Given the description of an element on the screen output the (x, y) to click on. 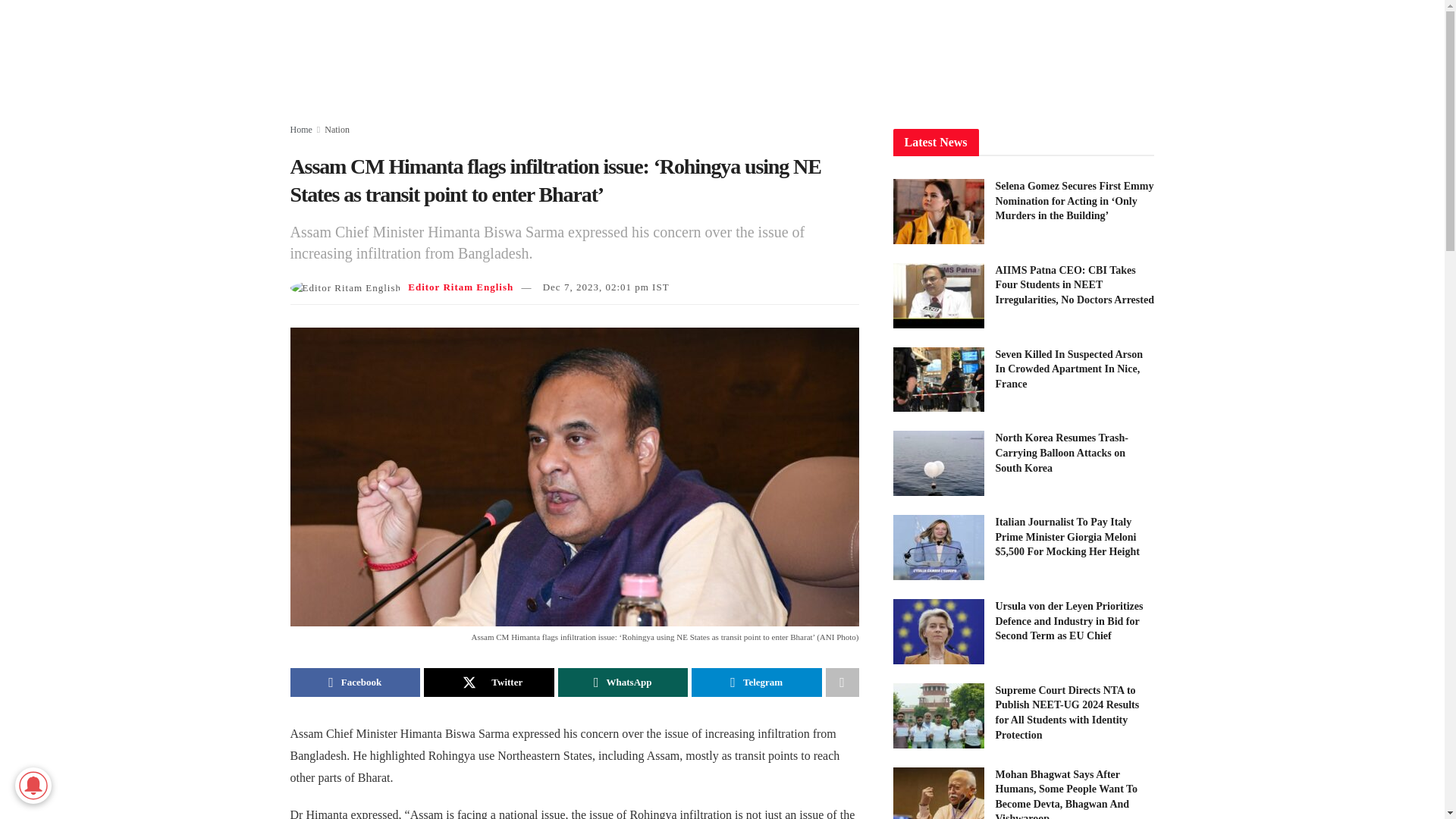
LIFESTYLE (943, 53)
OPINION (1086, 53)
POLITICS (788, 53)
HOME (525, 53)
VIDEOS (716, 53)
WORLD (650, 53)
BUSINESS (862, 53)
NATION (586, 53)
SPORTS (1019, 53)
